Given the description of an element on the screen output the (x, y) to click on. 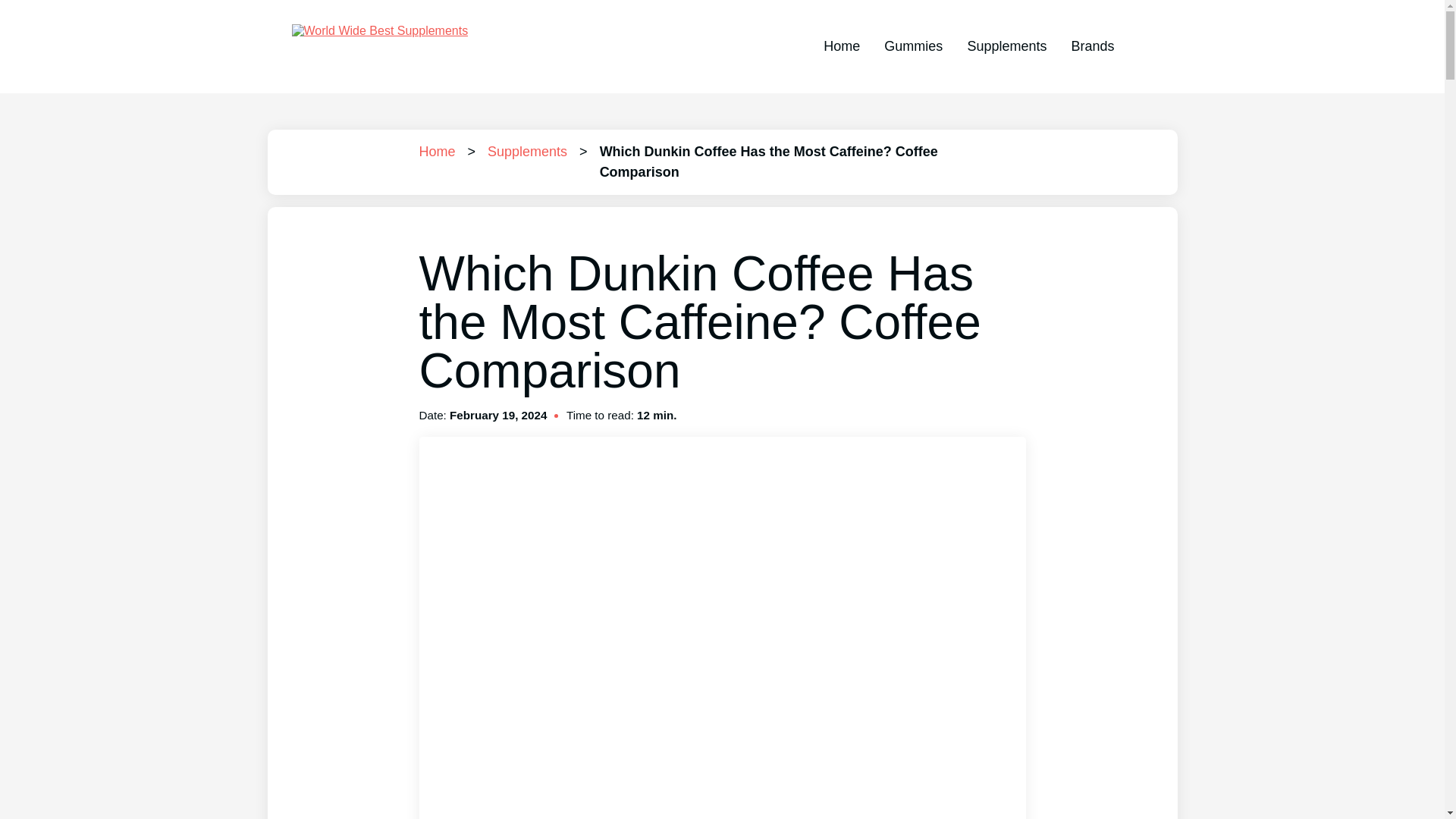
Search for: (1139, 46)
Home (842, 46)
Supplements (1006, 46)
Gummies (912, 46)
Brands (1091, 46)
Home (436, 151)
Which Dunkin Coffee Has the Most Caffeine? Coffee Comparison (768, 161)
